Given the description of an element on the screen output the (x, y) to click on. 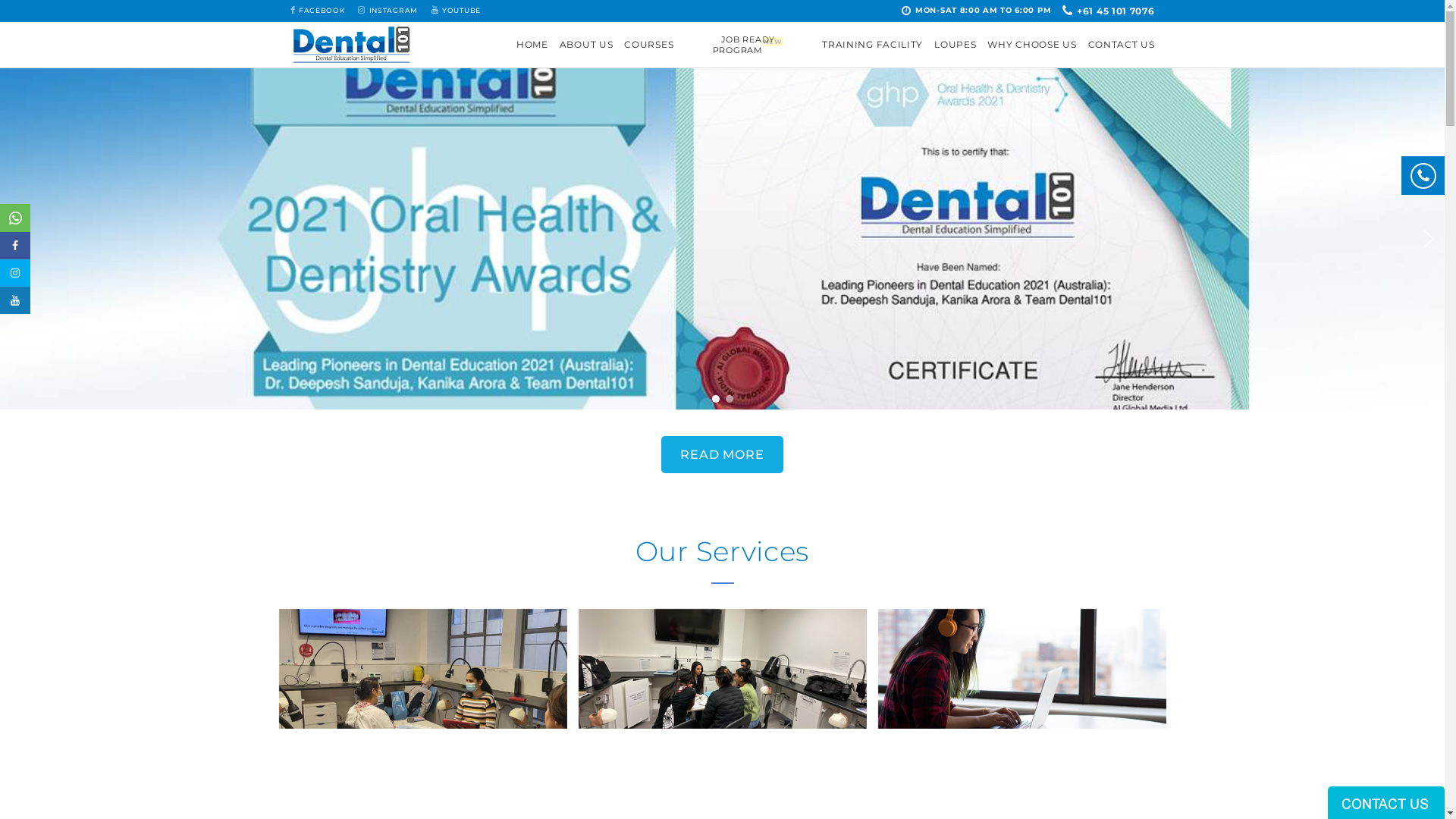
HOME Element type: text (532, 44)
TRAINING FACILITY Element type: text (872, 44)
CONTACT US Element type: text (1120, 44)
LOUPES Element type: text (954, 44)
FACEBOOK Element type: text (316, 10)
YOUTUBE Element type: text (455, 10)
ABOUT US Element type: text (586, 44)
JOB READY PROGRAMNEW Element type: text (747, 44)
COURSES Element type: text (648, 44)
READ MORE Element type: text (721, 454)
INSTAGRAM Element type: text (387, 10)
WHY CHOOSE US Element type: text (1031, 44)
